Given the description of an element on the screen output the (x, y) to click on. 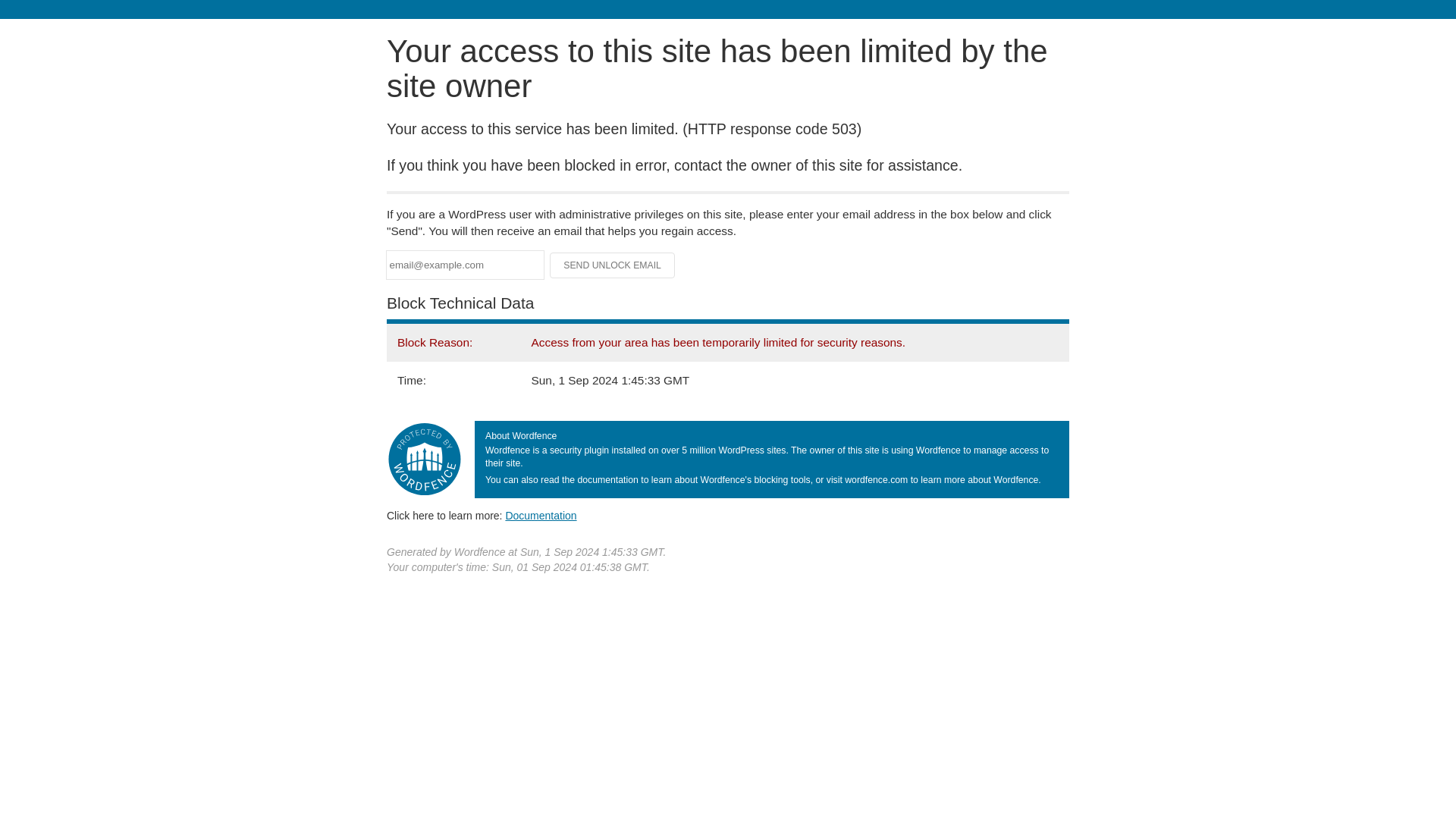
Send Unlock Email (612, 265)
Documentation (540, 515)
Send Unlock Email (612, 265)
